Given the description of an element on the screen output the (x, y) to click on. 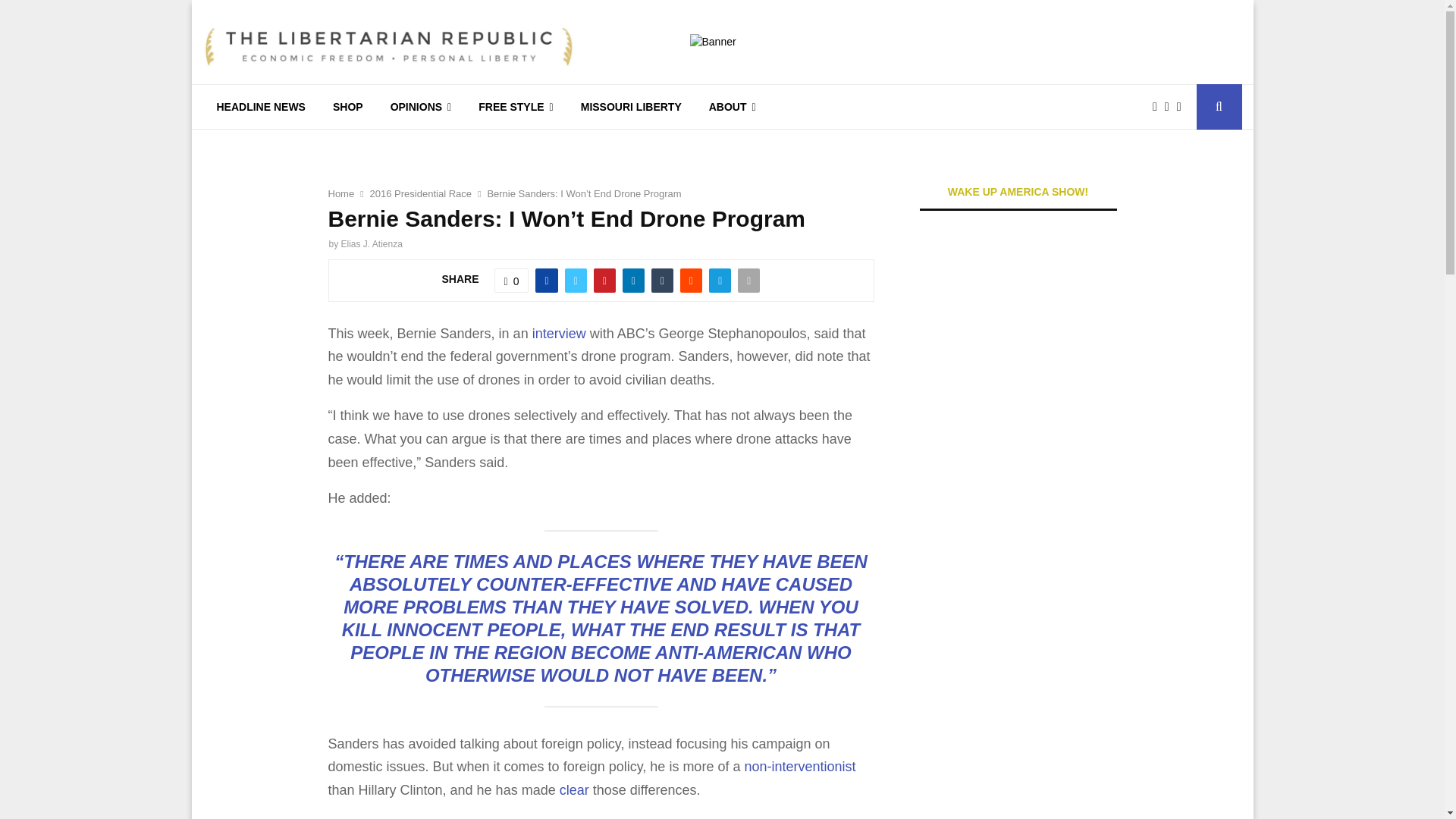
SHOP (347, 106)
MISSOURI LIBERTY (631, 106)
2016 Presidential Race (420, 193)
FREE STYLE (515, 106)
Elias J. Atienza (371, 244)
HEADLINE NEWS (260, 106)
Home (340, 193)
OPINIONS (421, 106)
Like (512, 280)
0 (512, 280)
